Given the description of an element on the screen output the (x, y) to click on. 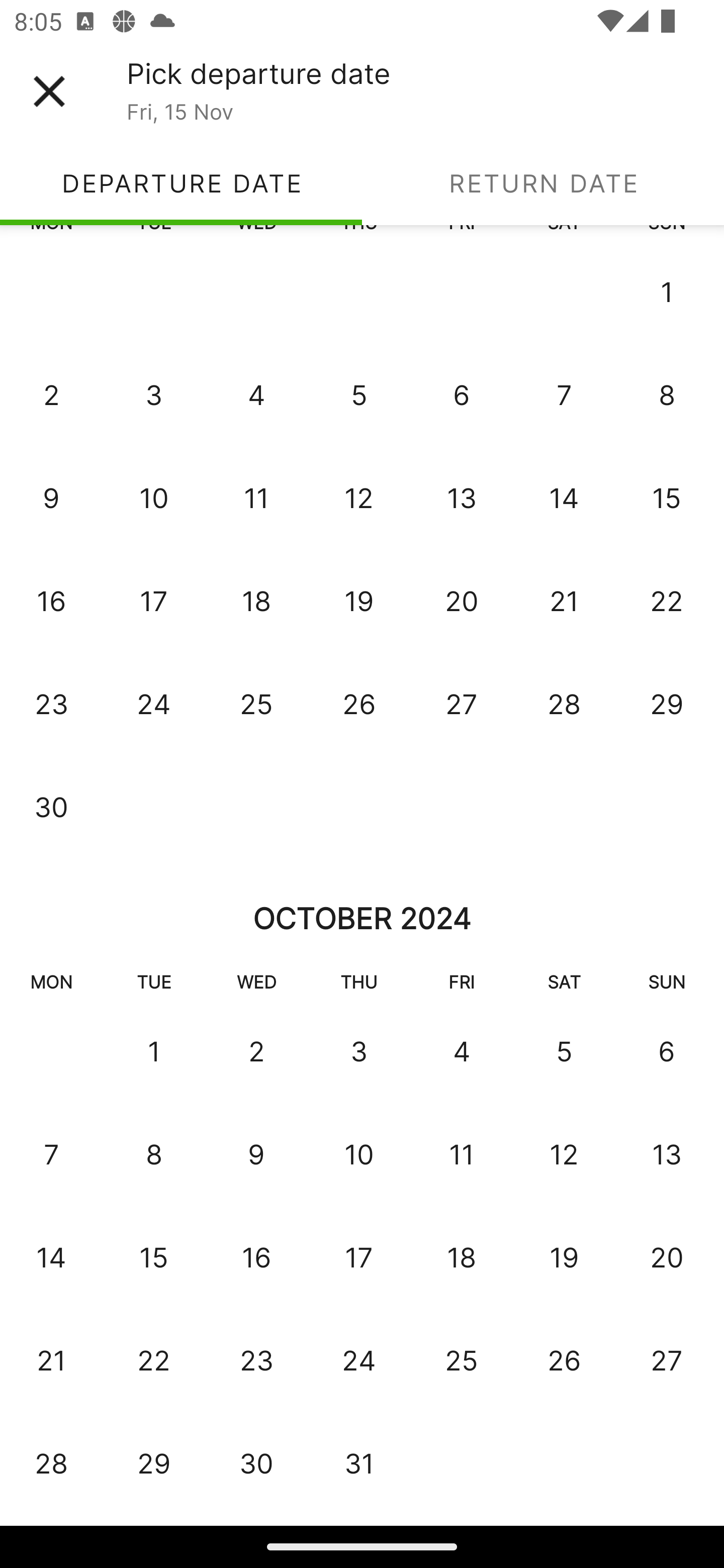
Return Date RETURN DATE (543, 183)
